Given the description of an element on the screen output the (x, y) to click on. 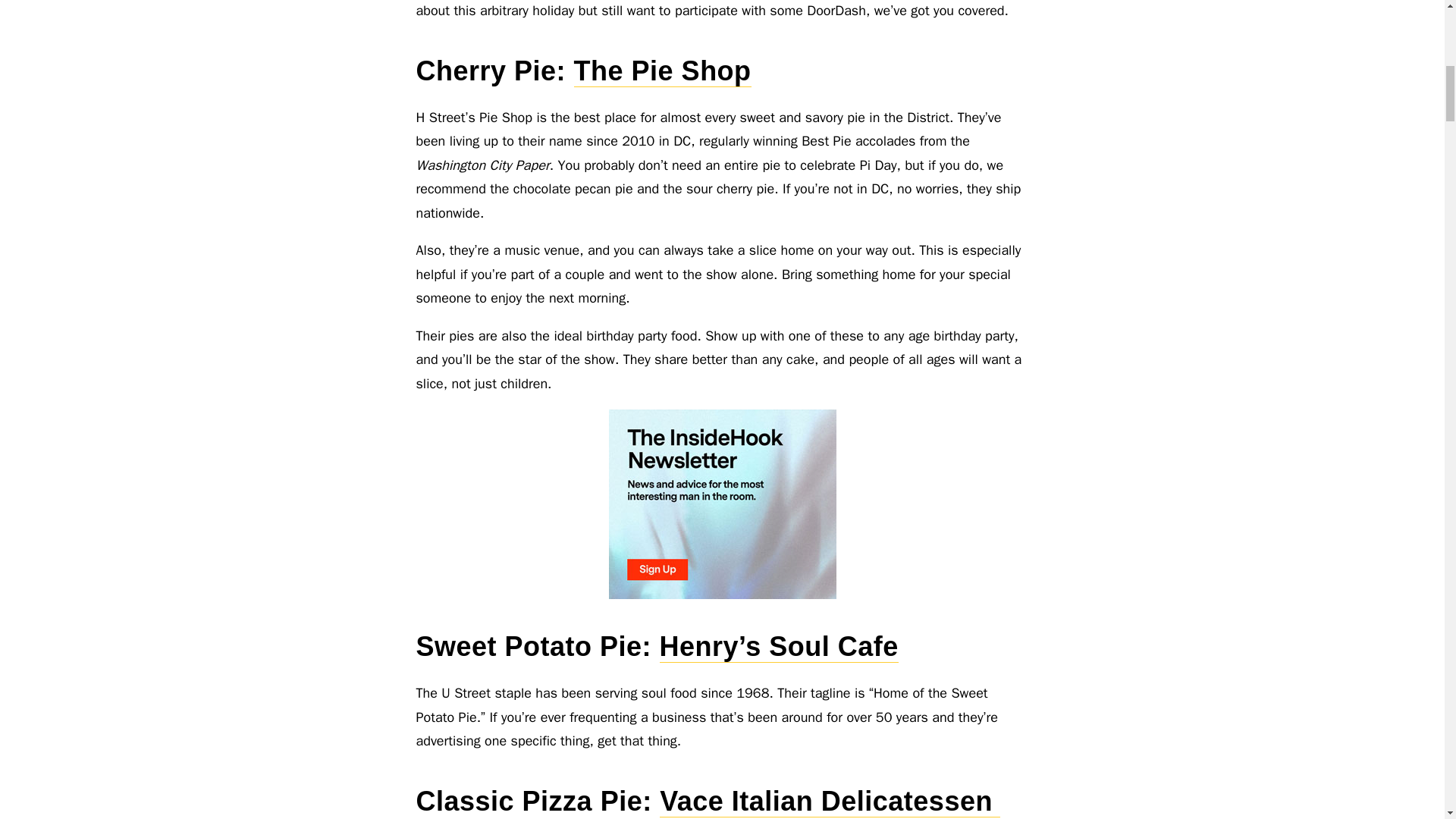
Vace Italian Delicatessen  (829, 801)
The Pie Shop (662, 70)
3rd party ad content (721, 503)
